Given the description of an element on the screen output the (x, y) to click on. 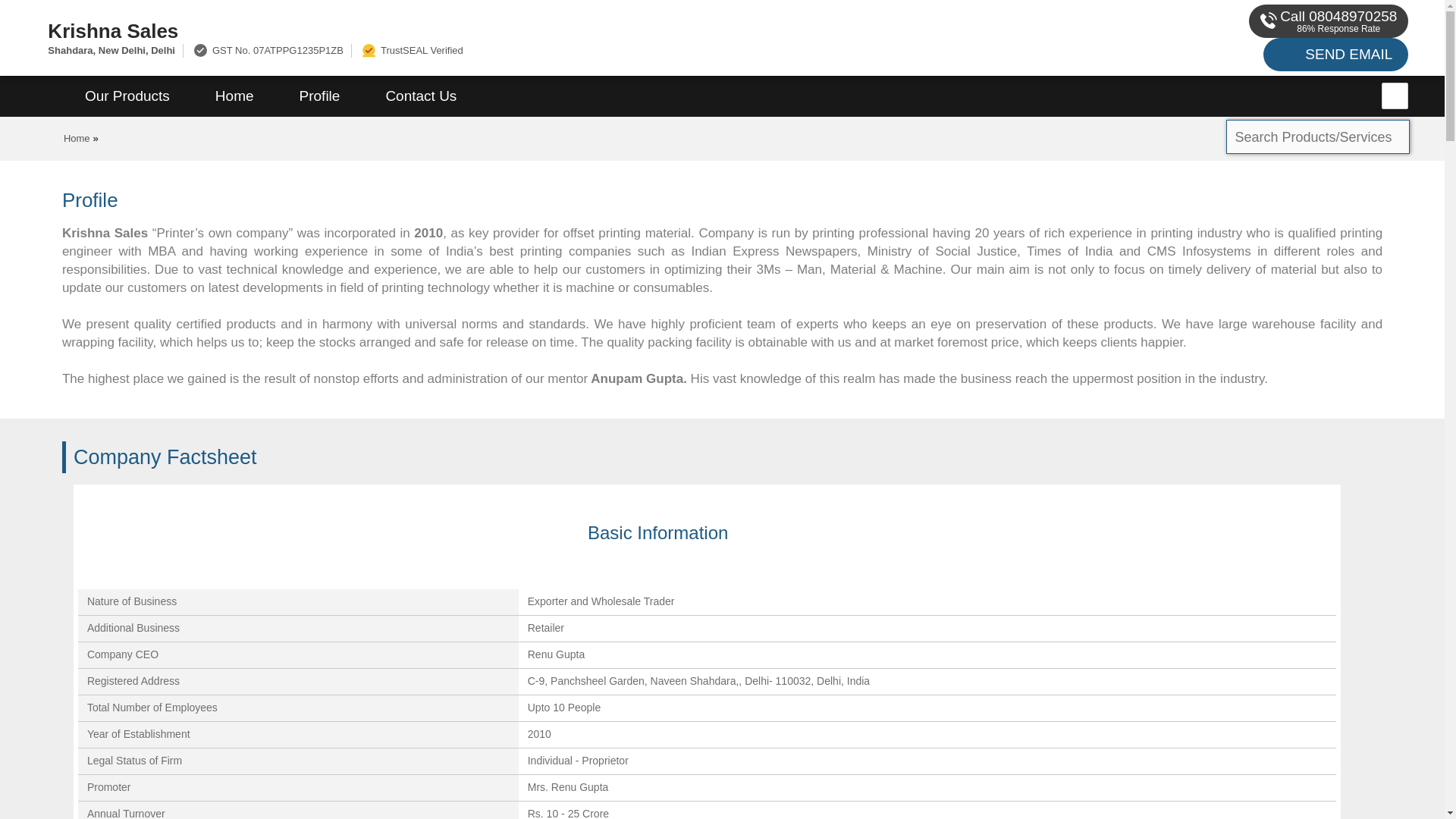
Krishna Sales (485, 31)
Home (77, 138)
Contact Us (420, 96)
Profile (319, 96)
Our Products (127, 96)
Home (234, 96)
